Given the description of an element on the screen output the (x, y) to click on. 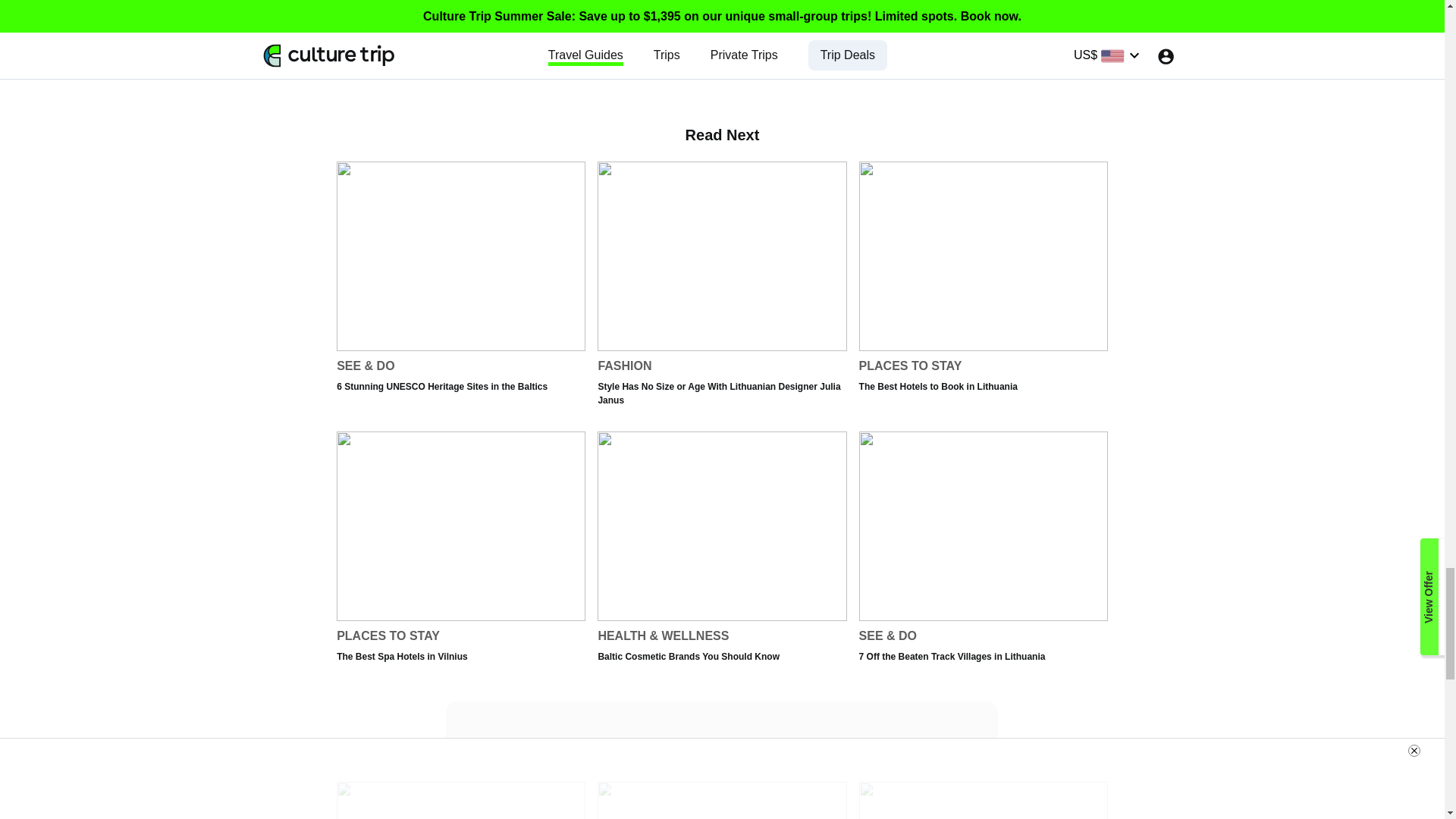
3rd party ad content (460, 560)
